Given the description of an element on the screen output the (x, y) to click on. 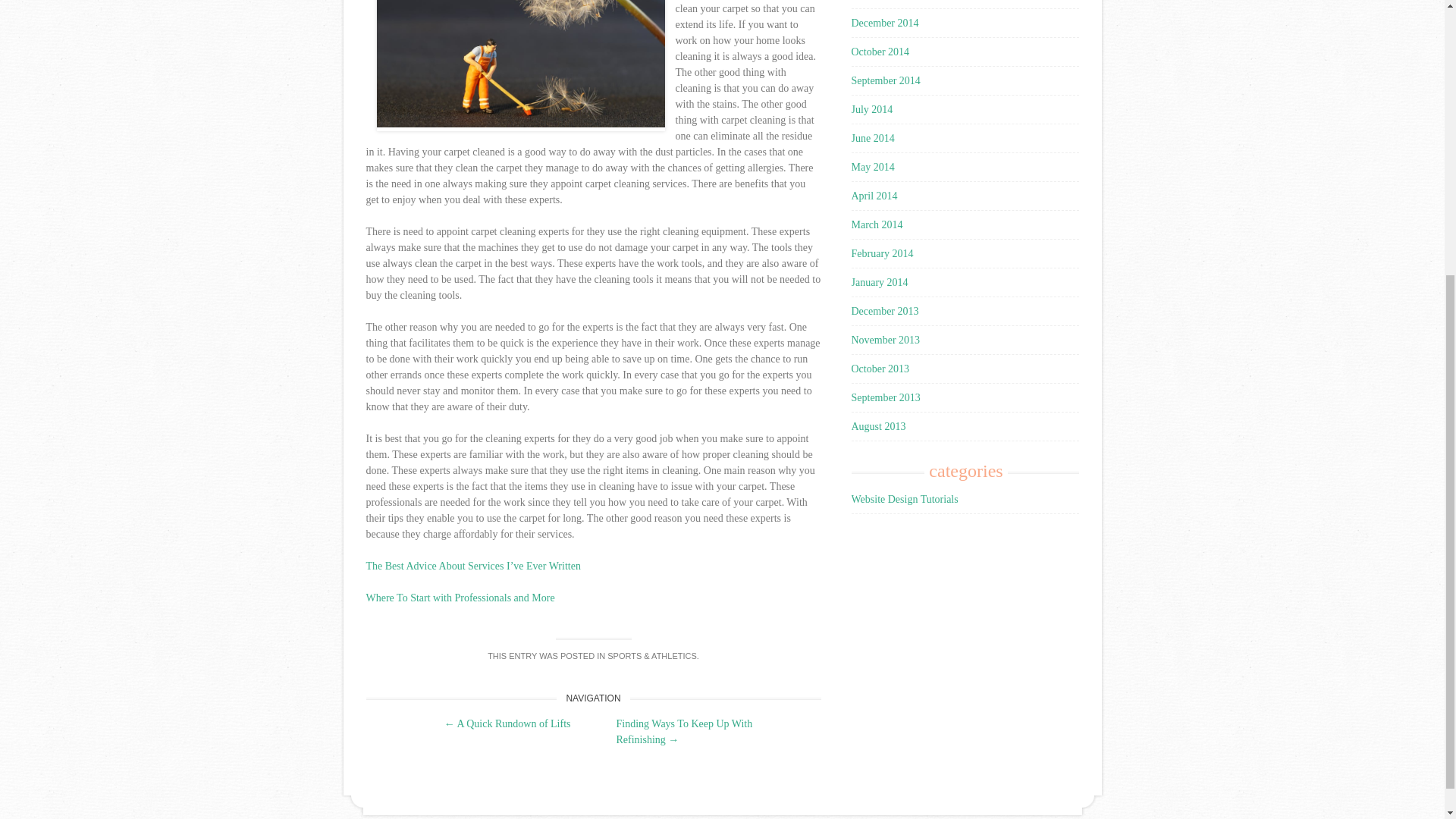
October 2014 (879, 51)
June 2014 (871, 138)
December 2013 (884, 310)
View all posts filed under Website Design Tutorials (904, 499)
April 2014 (873, 195)
March 2014 (876, 224)
May 2014 (871, 166)
November 2013 (885, 339)
December 2014 (884, 22)
August 2013 (877, 426)
January 2014 (878, 282)
July 2014 (871, 109)
February 2014 (881, 253)
September 2014 (885, 80)
Where To Start with Professionals and More (459, 597)
